Given the description of an element on the screen output the (x, y) to click on. 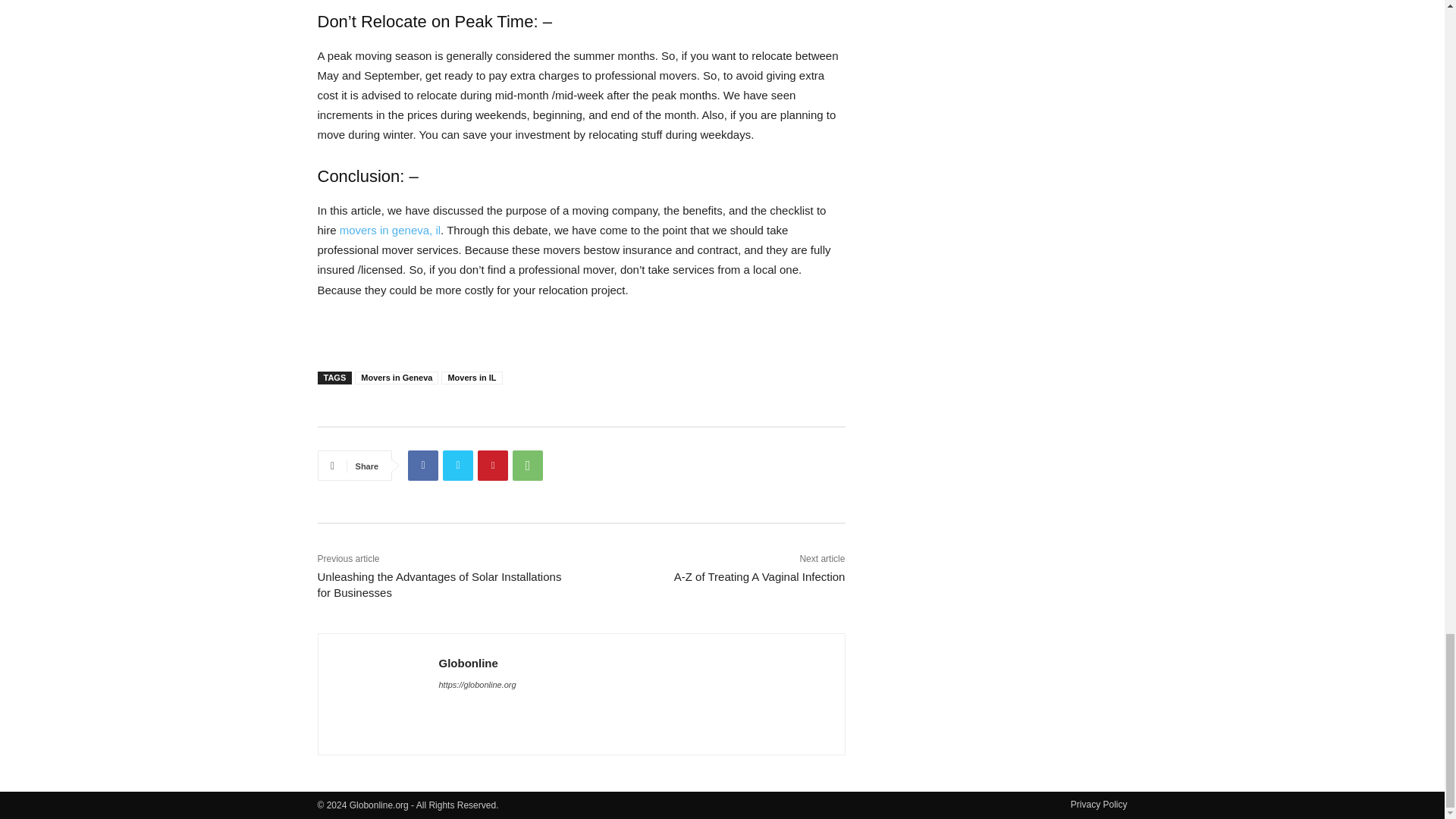
Movers in Geneva (396, 377)
movers in geneva, il (390, 229)
Movers in IL (471, 377)
